Given the description of an element on the screen output the (x, y) to click on. 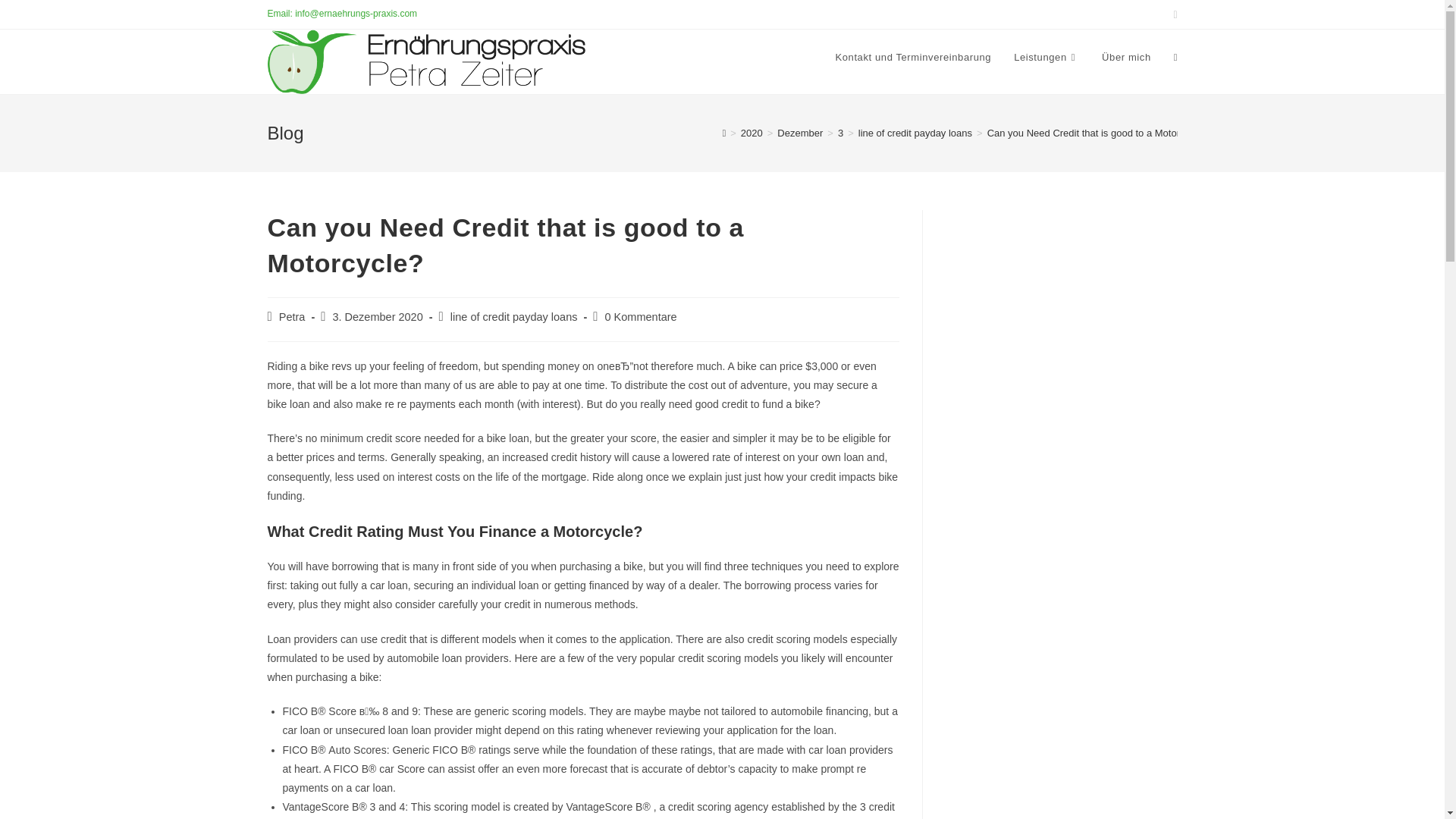
0 Kommentare (641, 316)
line of credit payday loans (915, 132)
Can you Need Credit that is good to a Motorcycle? (1097, 132)
2020 (751, 132)
Petra (292, 316)
Kontakt und Terminvereinbarung (913, 57)
line of credit payday loans (513, 316)
Leistungen (1046, 57)
Dezember (799, 132)
